Given the description of an element on the screen output the (x, y) to click on. 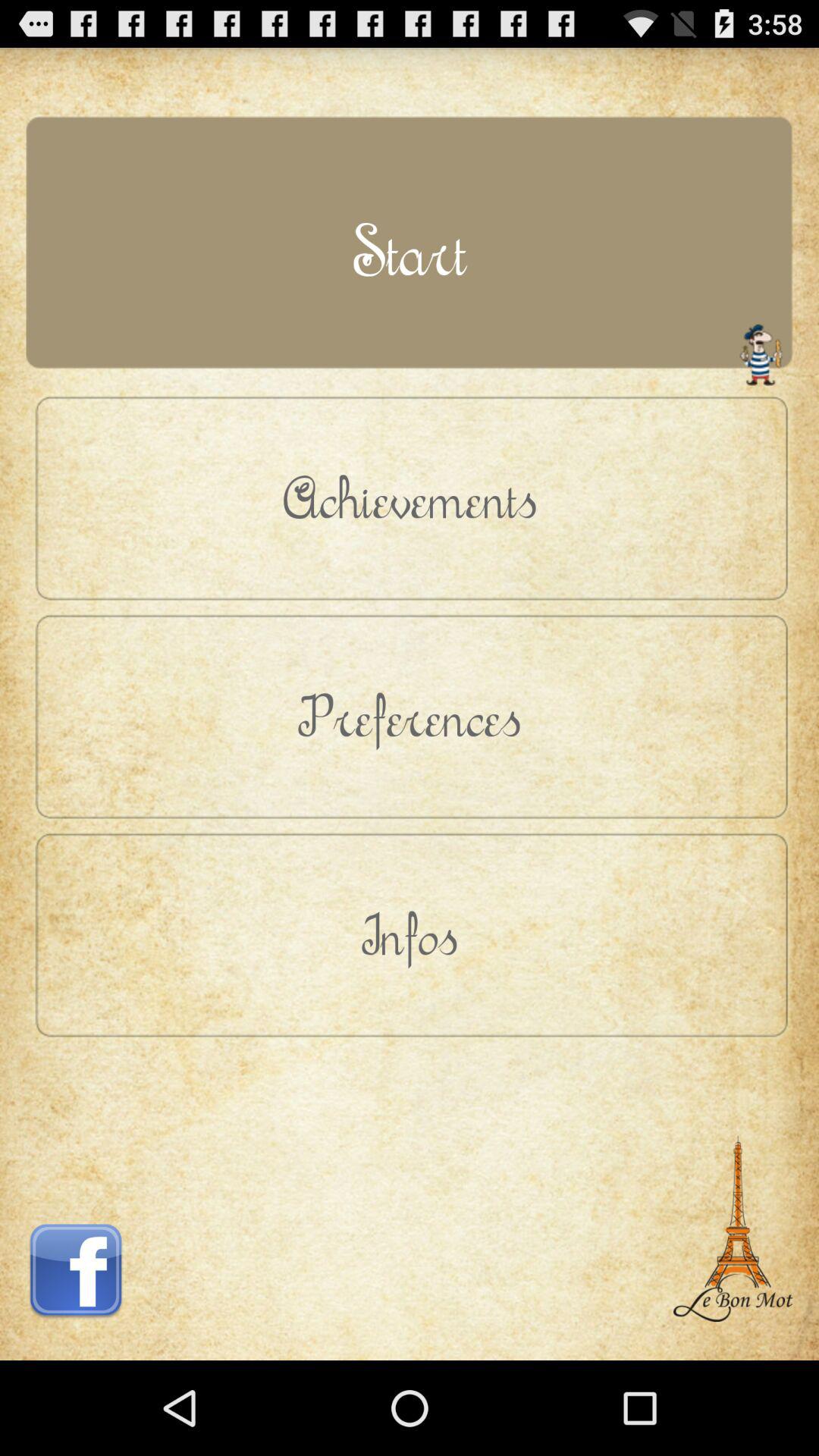
turn on item at the bottom right corner (732, 1195)
